Given the description of an element on the screen output the (x, y) to click on. 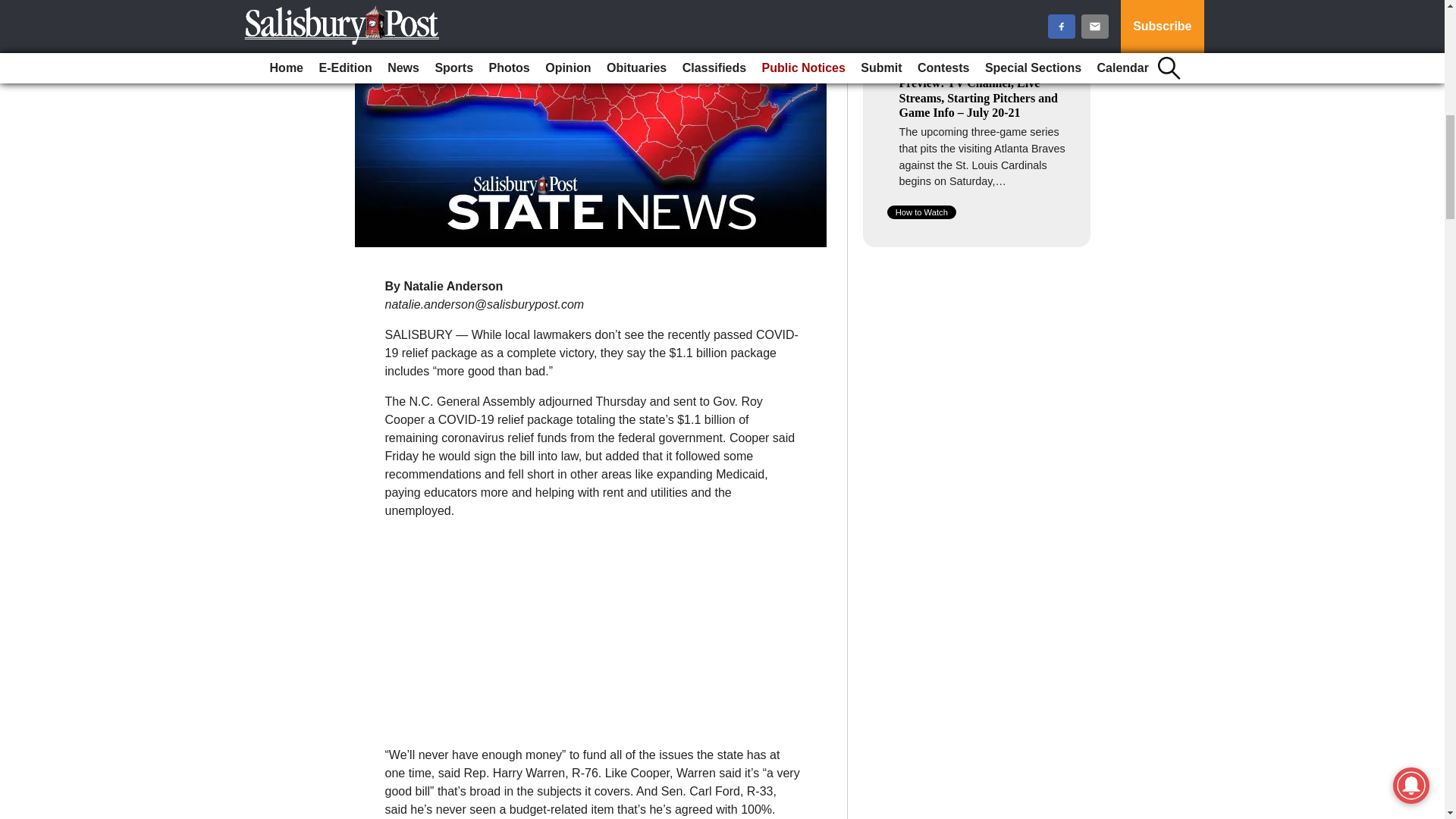
3rd party ad content (592, 626)
